Given the description of an element on the screen output the (x, y) to click on. 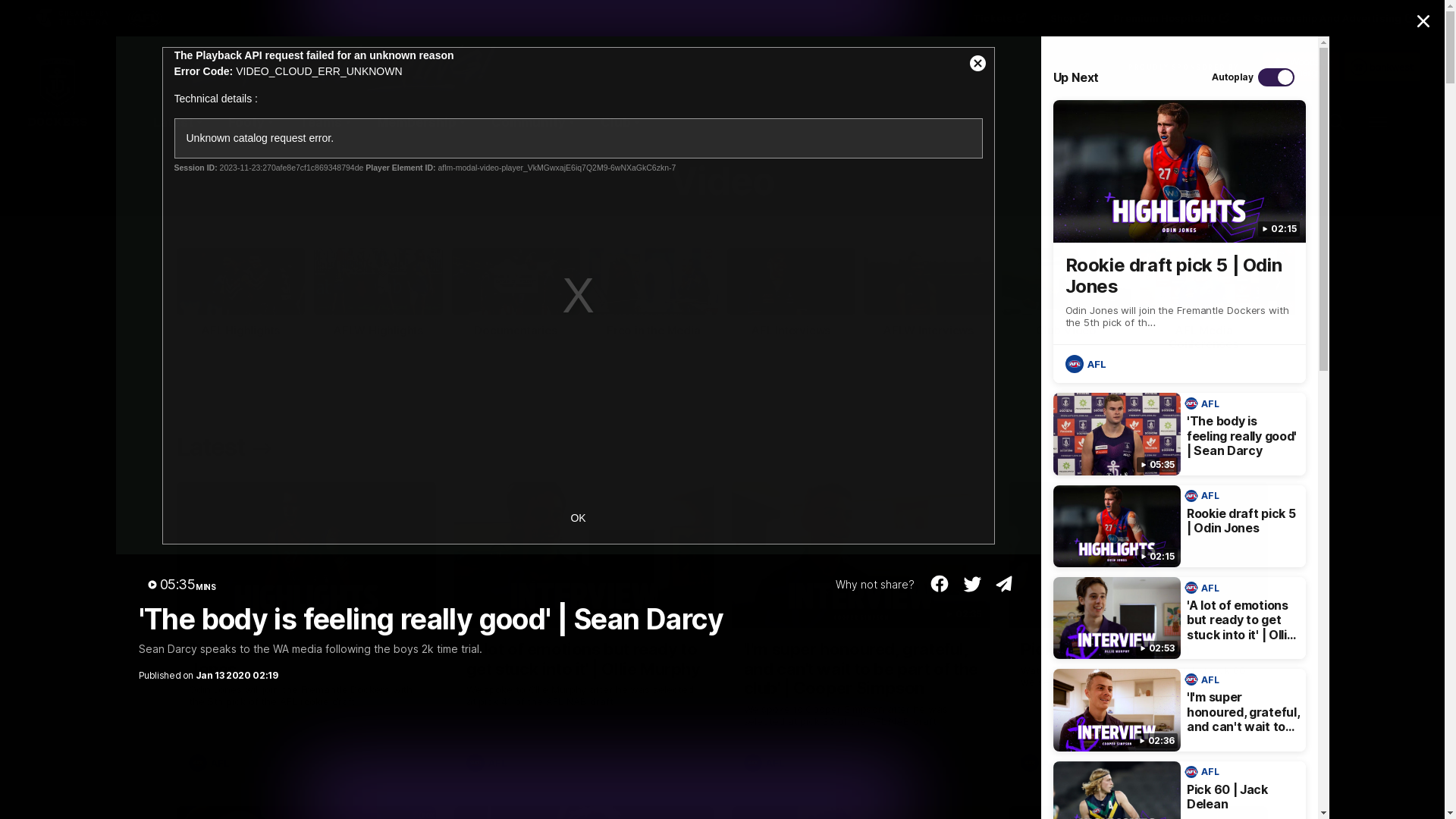
AFL Interviews Element type: text (790, 292)
Menu Element type: text (1377, 121)
AFL Element type: text (210, 762)
Premium Hospitality Element type: text (1169, 18)
Freo in the Media Element type: text (653, 292)
AFL Element type: text (1204, 587)
Club Element type: text (619, 121)
Latest Element type: text (226, 448)
Rookie draft pick 5 | Odin Jones Element type: hover (306, 631)
Teams Element type: text (324, 121)
AFL Element type: text (1204, 771)
Sponsorship And Advertising Element type: text (1332, 18)
AFL Element type: text (1204, 495)
Tickets Element type: text (997, 18)
AFL Element type: text (1204, 403)
AFLW Media Conferences Element type: text (1341, 299)
Footy Element type: text (249, 121)
AFLW Highlights Element type: text (377, 292)
Pick 60 | Jack Delean Element type: hover (1137, 631)
CREATED BY
TELSTRA Element type: text (66, 18)
Club Video Element type: text (1065, 292)
Close Element type: text (1423, 21)
AFL Element type: text (1042, 762)
Shop Element type: text (1067, 18)
Community Element type: text (531, 121)
AFL Media Conferences Element type: text (1203, 299)
AFL Element type: text (1204, 679)
Play Video Element type: text (578, 295)
Latest Element type: text (176, 121)
AFL Element type: text (488, 762)
AFLW Interviews Element type: text (928, 292)
AFL Element type: text (1086, 363)
Next Element type: text (1276, 282)
Club Logo Element type: text (57, 121)
AFL Element type: text (765, 762)
Documentaries Element type: text (515, 292)
AFL Highlights Element type: text (240, 292)
Membership Element type: text (420, 121)
